Given the description of an element on the screen output the (x, y) to click on. 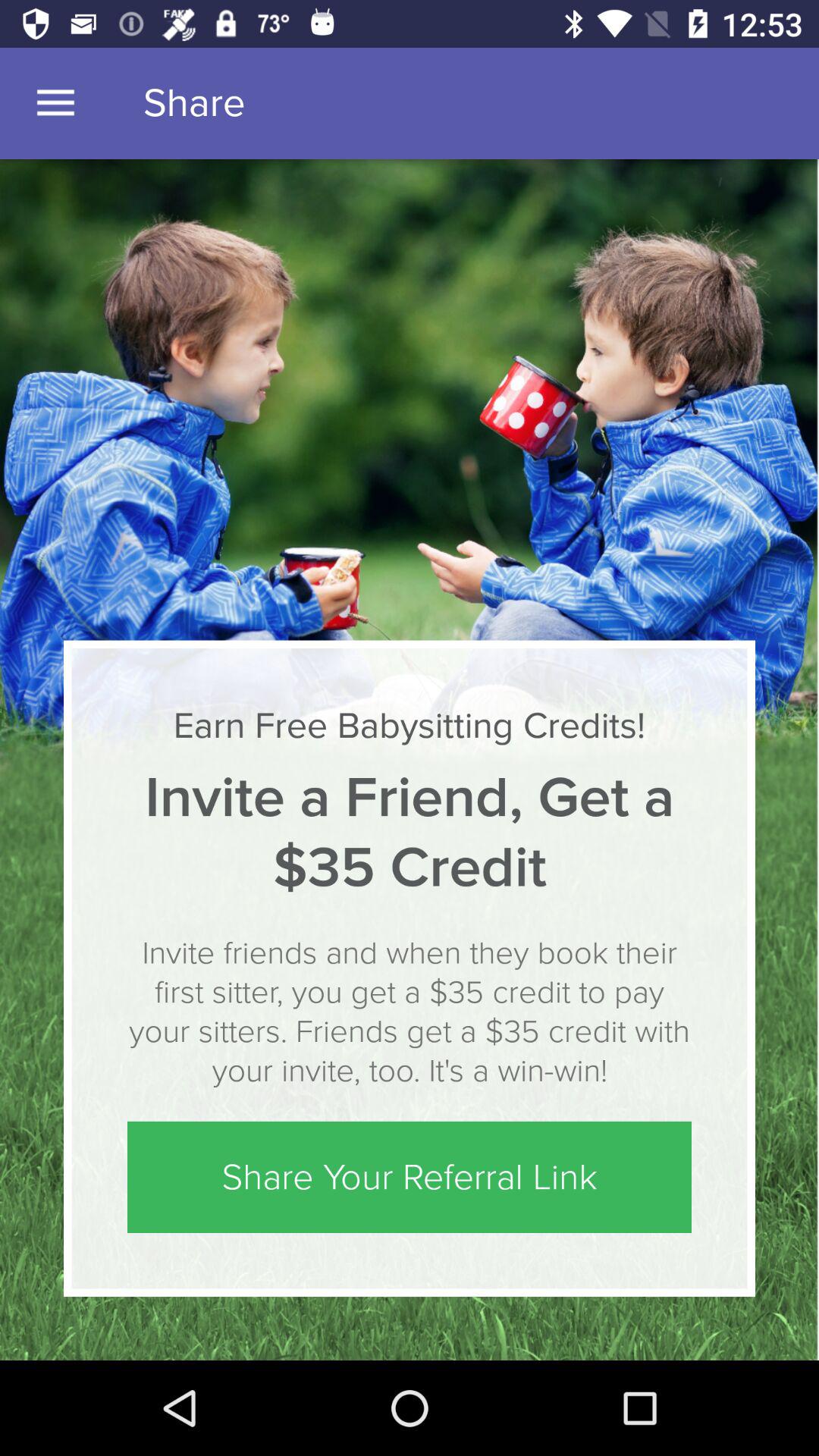
flip to share your referral (409, 1177)
